Given the description of an element on the screen output the (x, y) to click on. 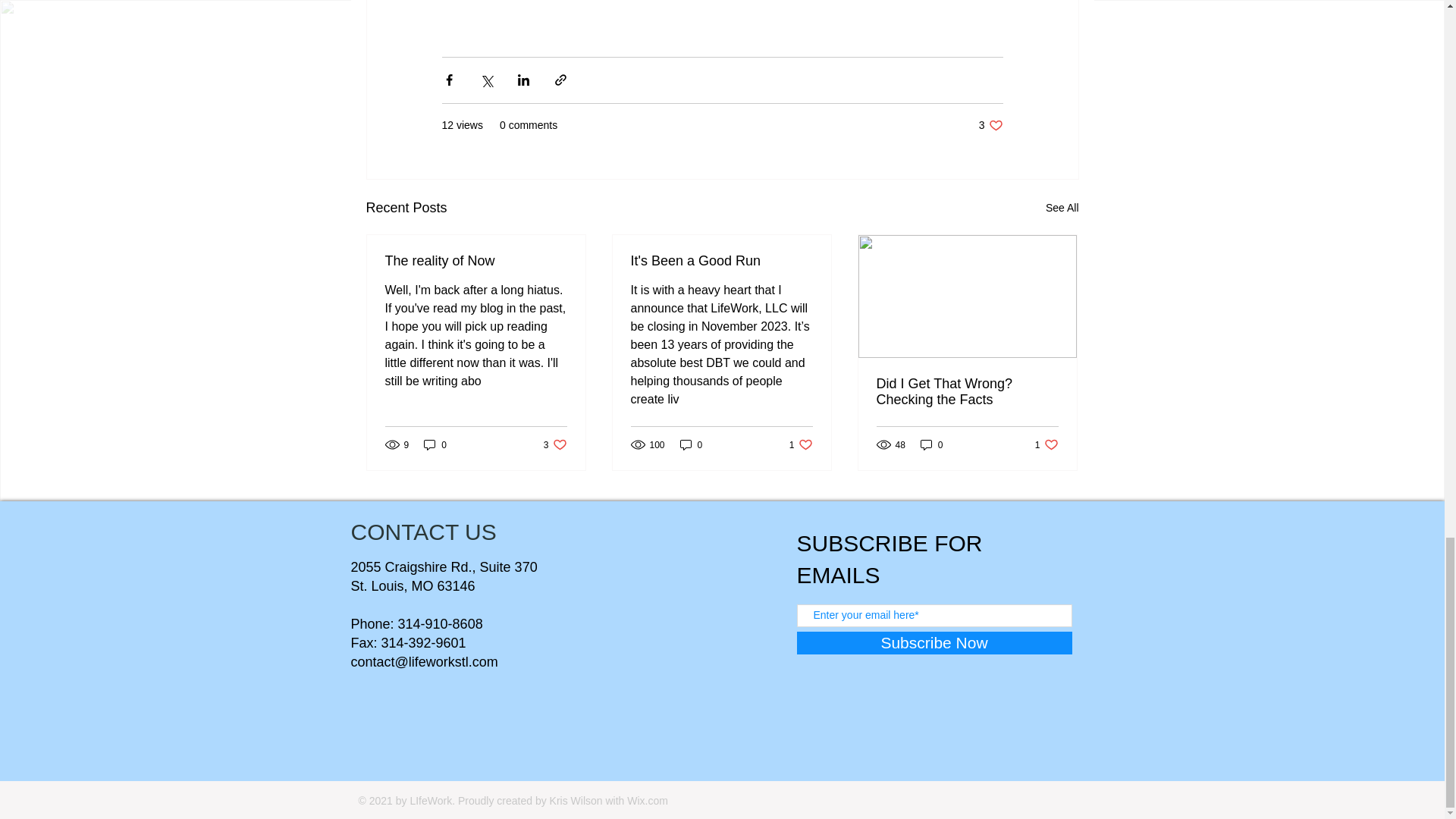
It's Been a Good Run (721, 261)
0 (800, 444)
Did I Get That Wrong? Checking the Facts (435, 444)
0 (967, 391)
The reality of Now (990, 124)
See All (691, 444)
Subscribe Now (476, 261)
0 (1061, 208)
